Given the description of an element on the screen output the (x, y) to click on. 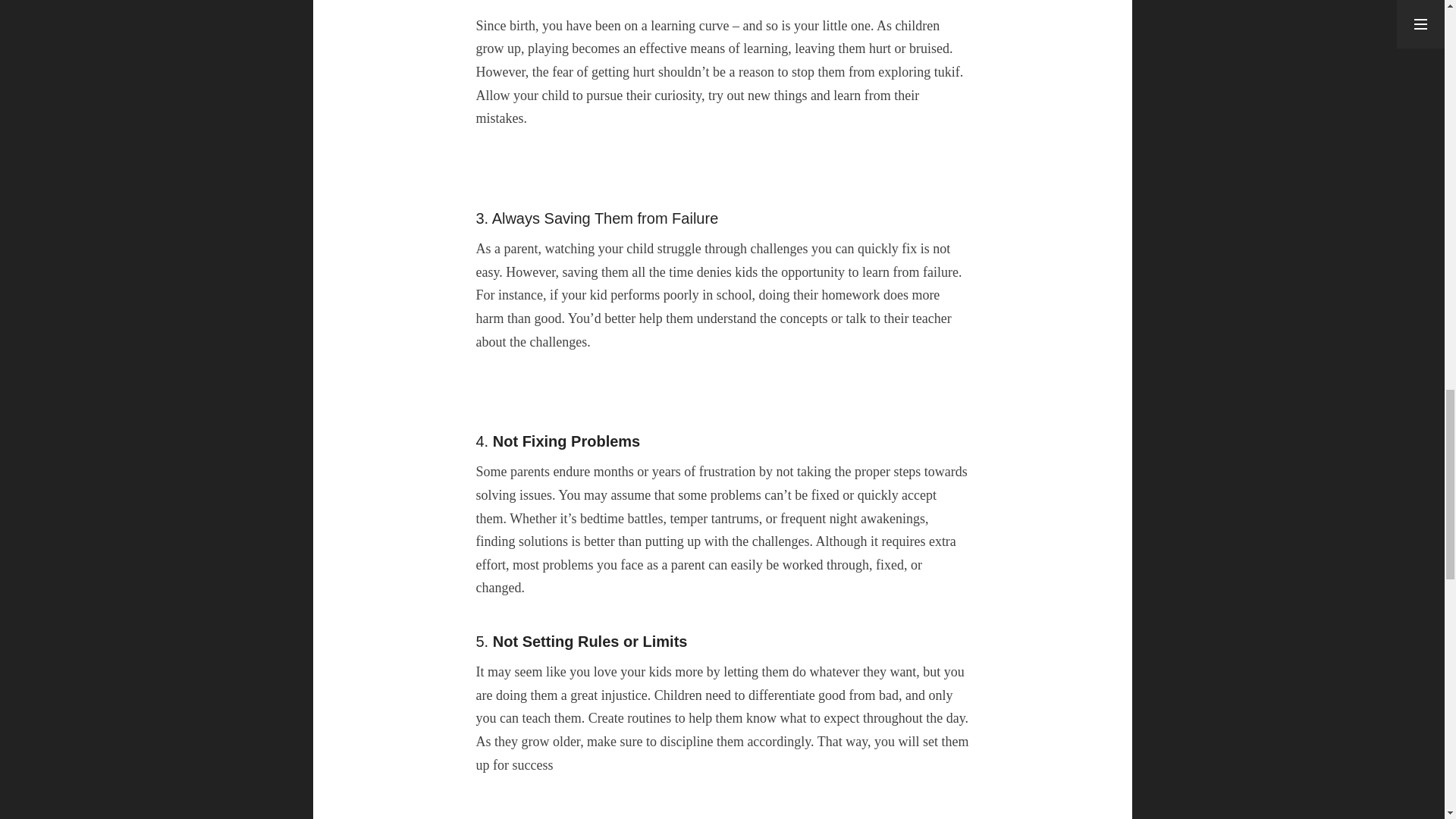
tukif (946, 71)
